Given the description of an element on the screen output the (x, y) to click on. 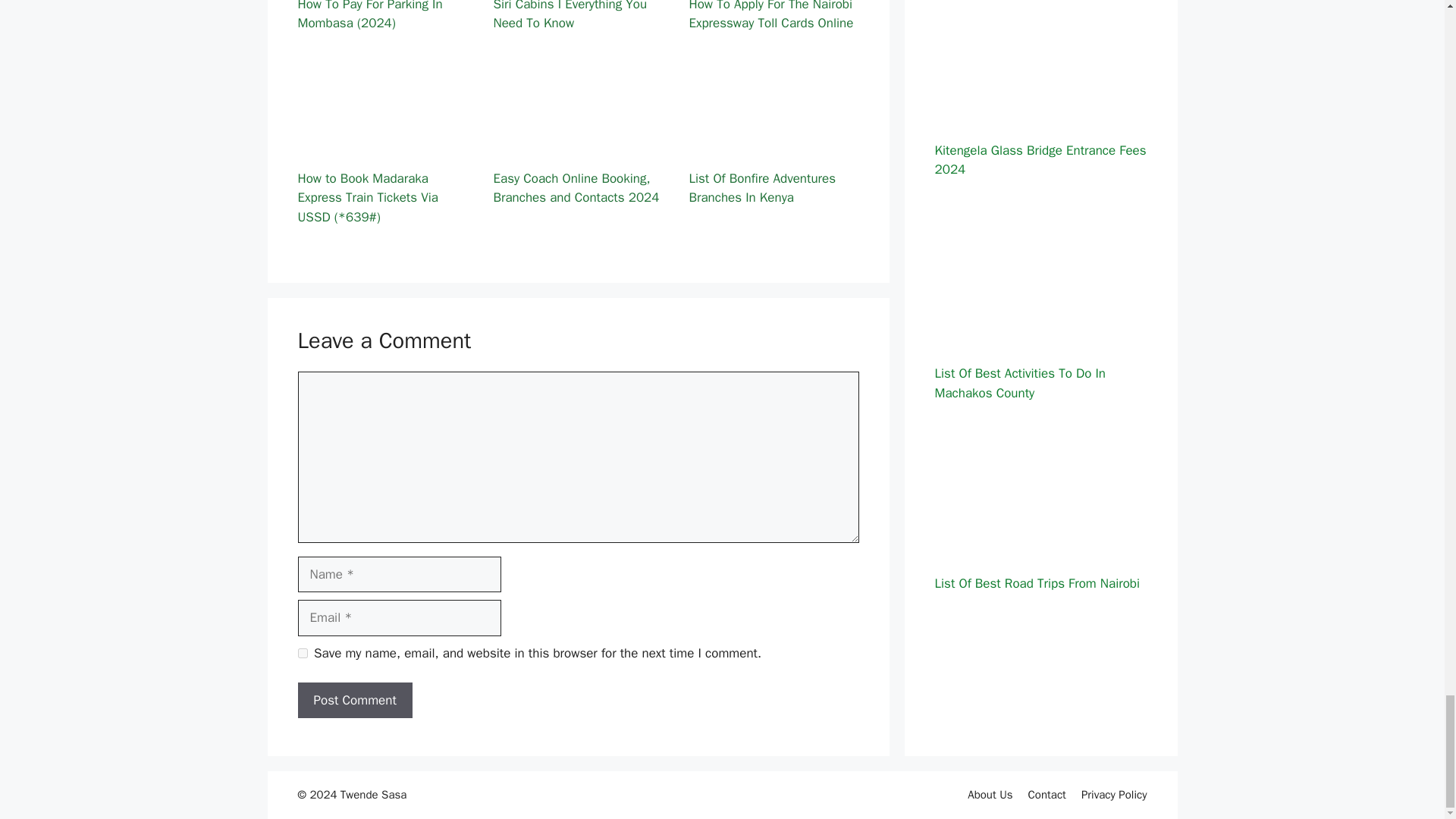
Easy Coach Online Booking, Branches and Contacts 2024 (577, 145)
yes (302, 653)
Post Comment (354, 700)
List Of Bonfire Adventures Branches In Kenya (773, 145)
